Given the description of an element on the screen output the (x, y) to click on. 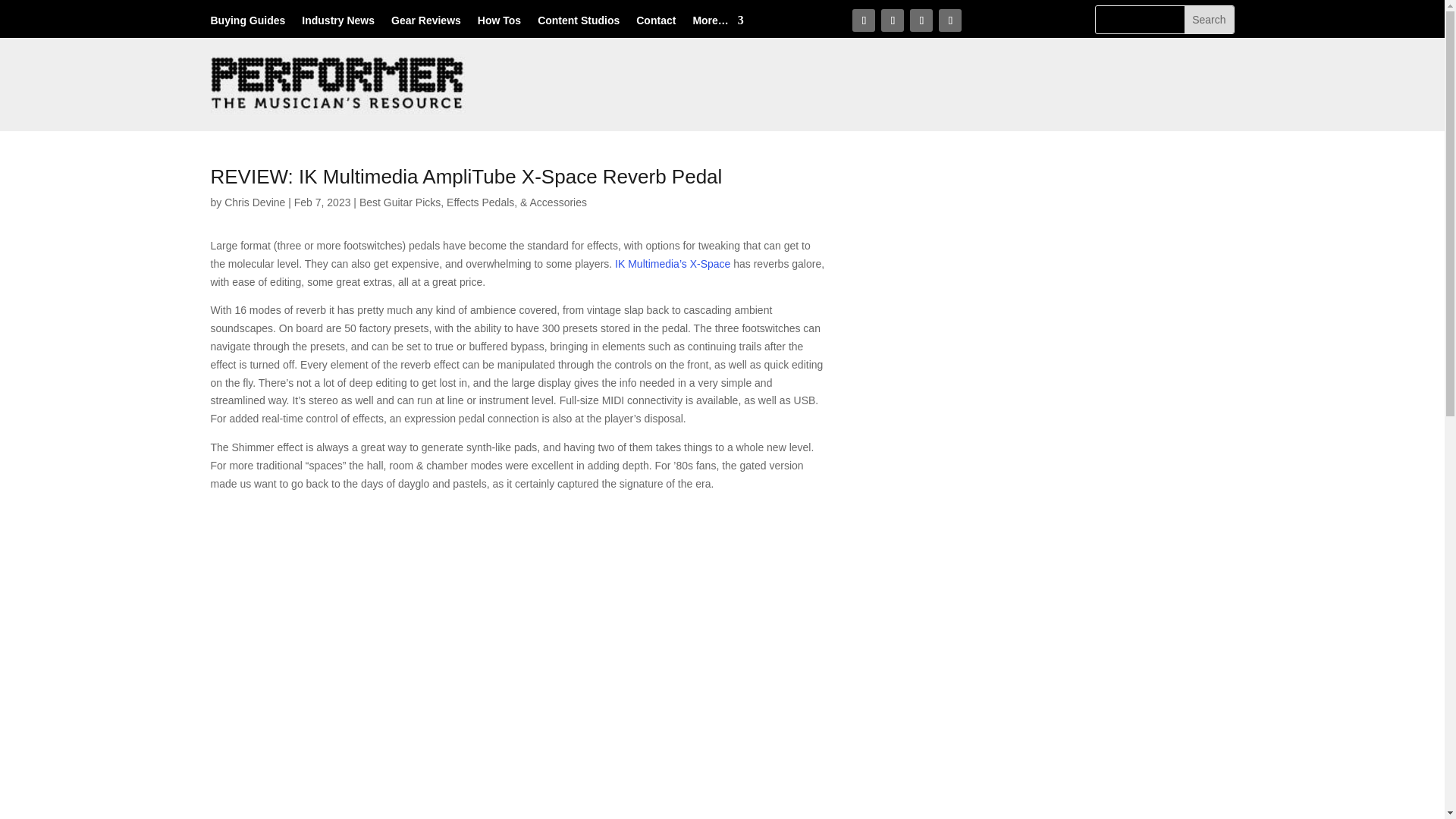
Contact (655, 23)
Posts by Chris Devine (254, 202)
Follow on Youtube (949, 20)
How Tos (499, 23)
Follow on X (892, 20)
Search (1209, 19)
Search (1209, 19)
Follow on Facebook (863, 20)
Gear Reviews (426, 23)
